Given the description of an element on the screen output the (x, y) to click on. 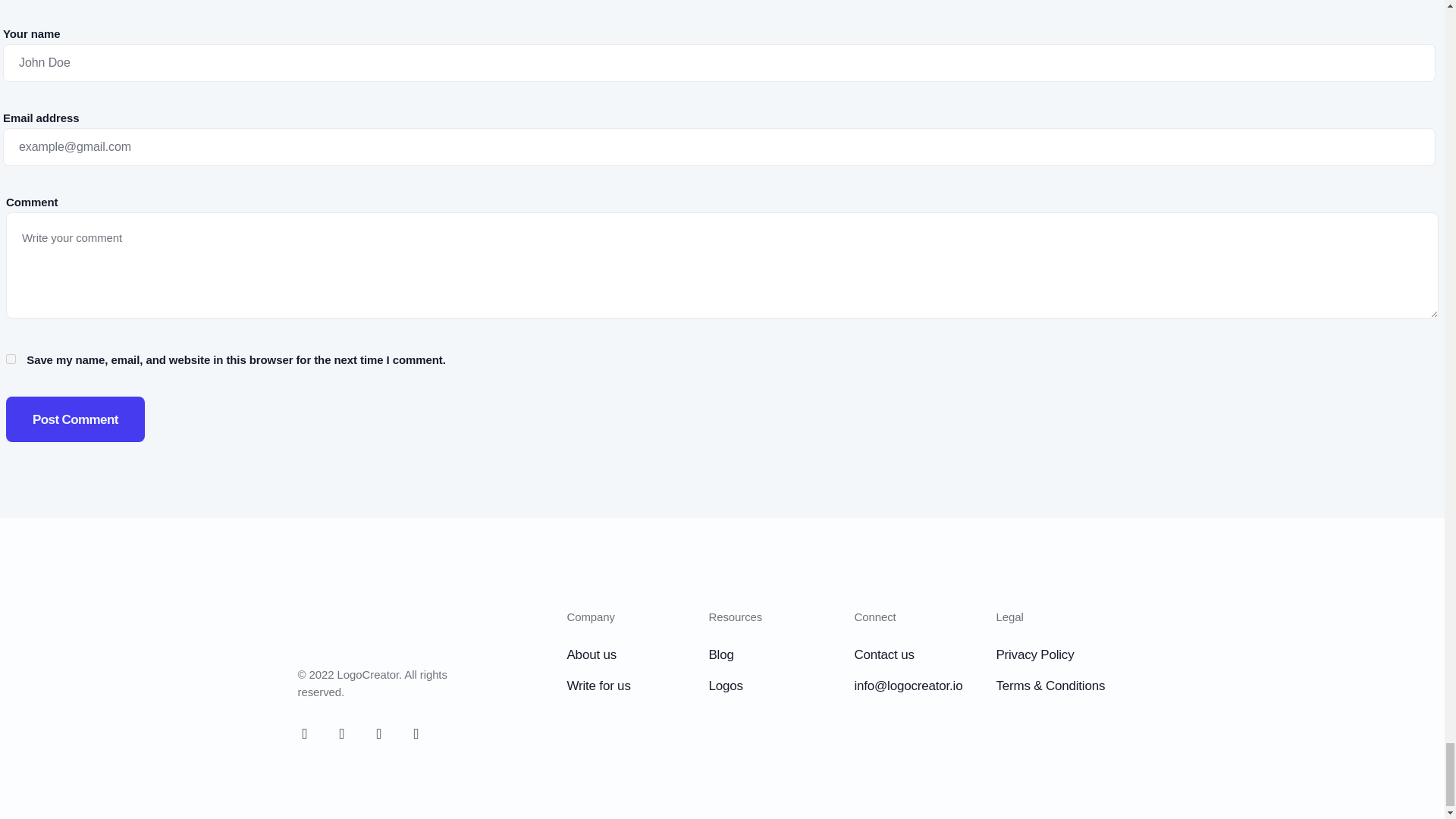
yes (10, 358)
Post Comment (74, 419)
